Given the description of an element on the screen output the (x, y) to click on. 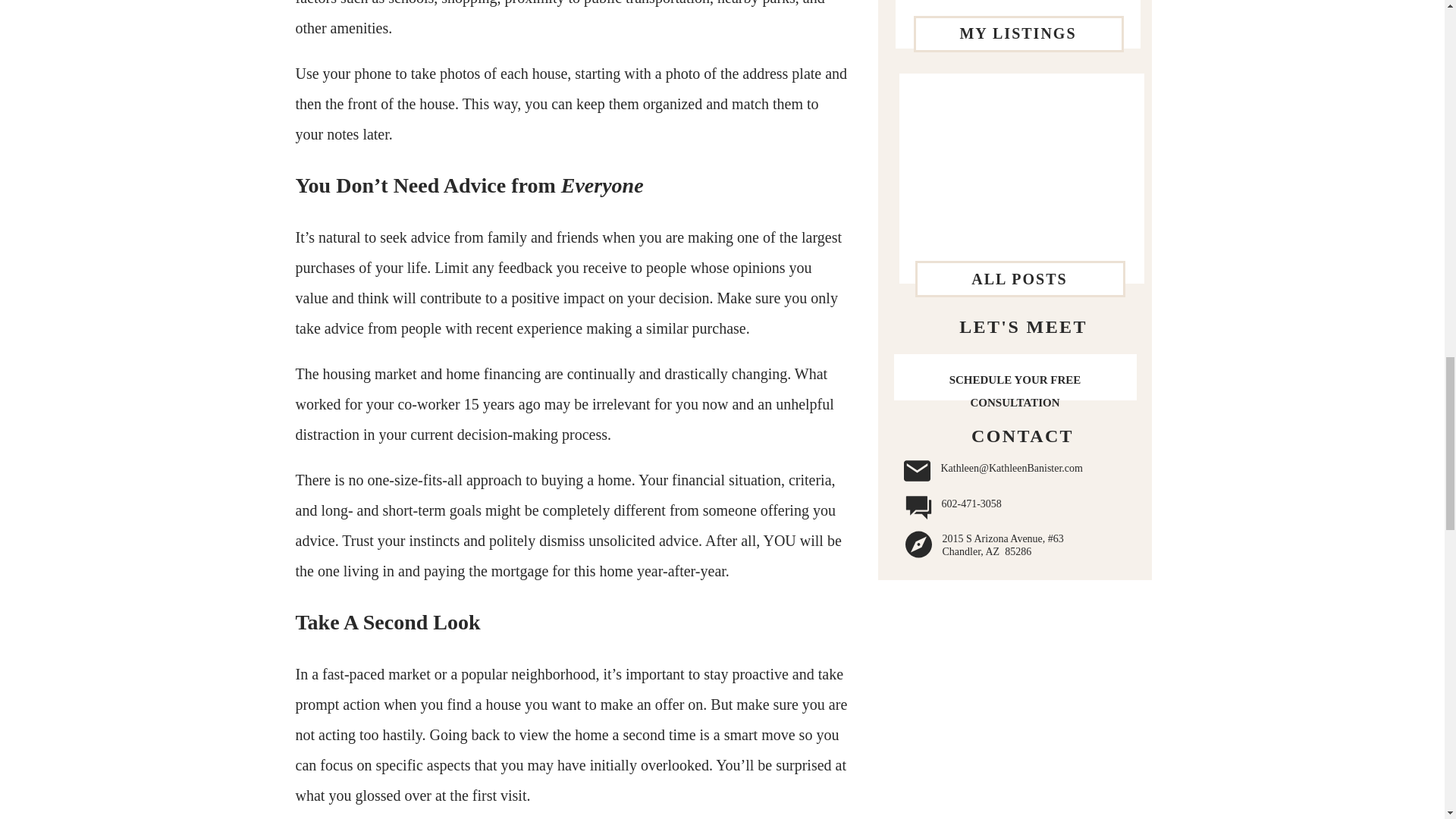
602-471-3058 (1036, 506)
ALL POSTS (1019, 279)
MY LISTINGS (1018, 36)
SCHEDULE YOUR FREE CONSULTATION (1014, 376)
